Given the description of an element on the screen output the (x, y) to click on. 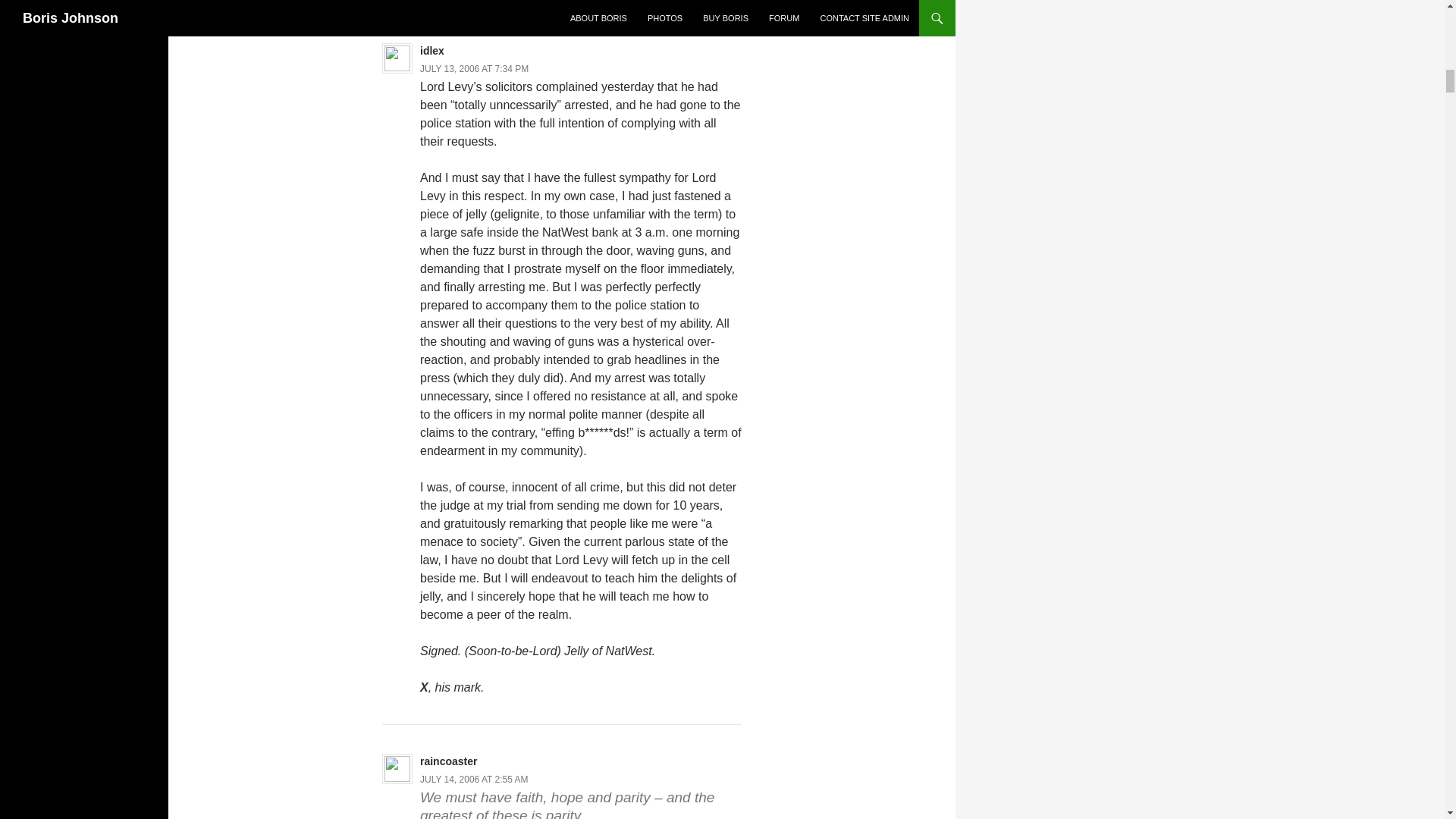
raincoaster (448, 761)
JULY 13, 2006 AT 7:34 PM (474, 68)
JULY 14, 2006 AT 2:55 AM (474, 778)
